Given the description of an element on the screen output the (x, y) to click on. 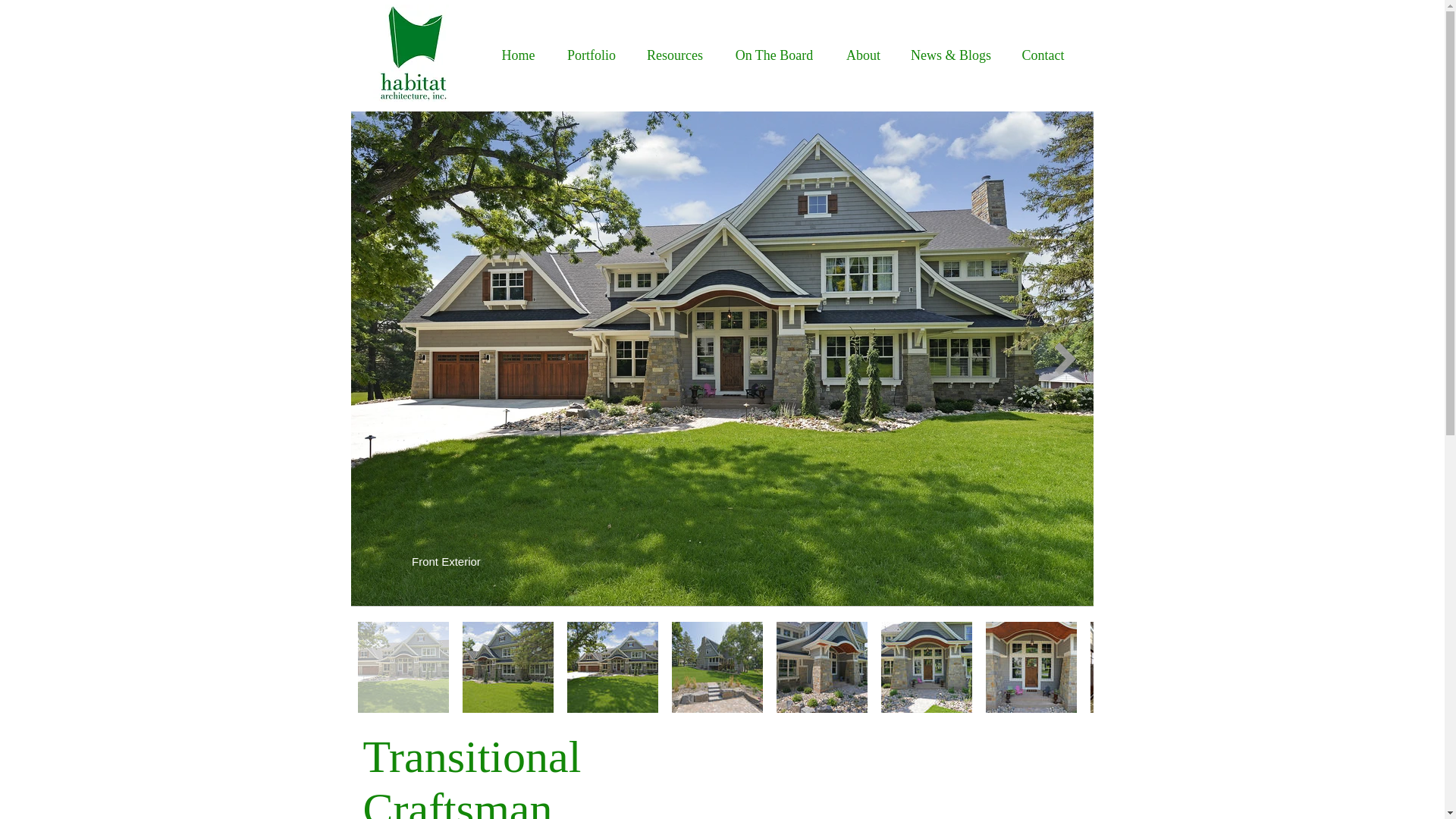
Home (517, 54)
Contact (1043, 54)
Resources (674, 54)
About (862, 54)
On The Board (773, 54)
